Given the description of an element on the screen output the (x, y) to click on. 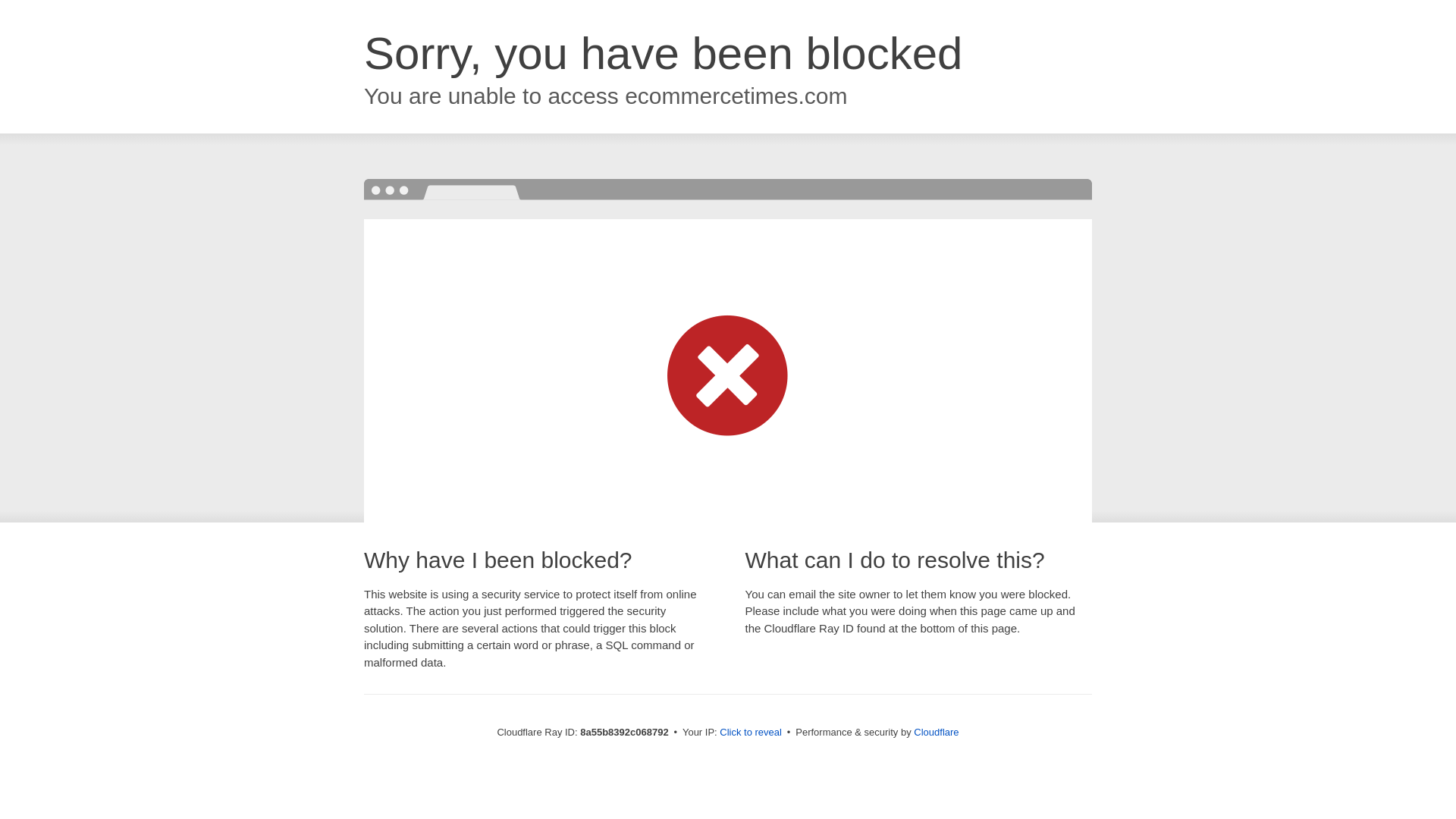
Cloudflare (936, 731)
Click to reveal (750, 732)
